Given the description of an element on the screen output the (x, y) to click on. 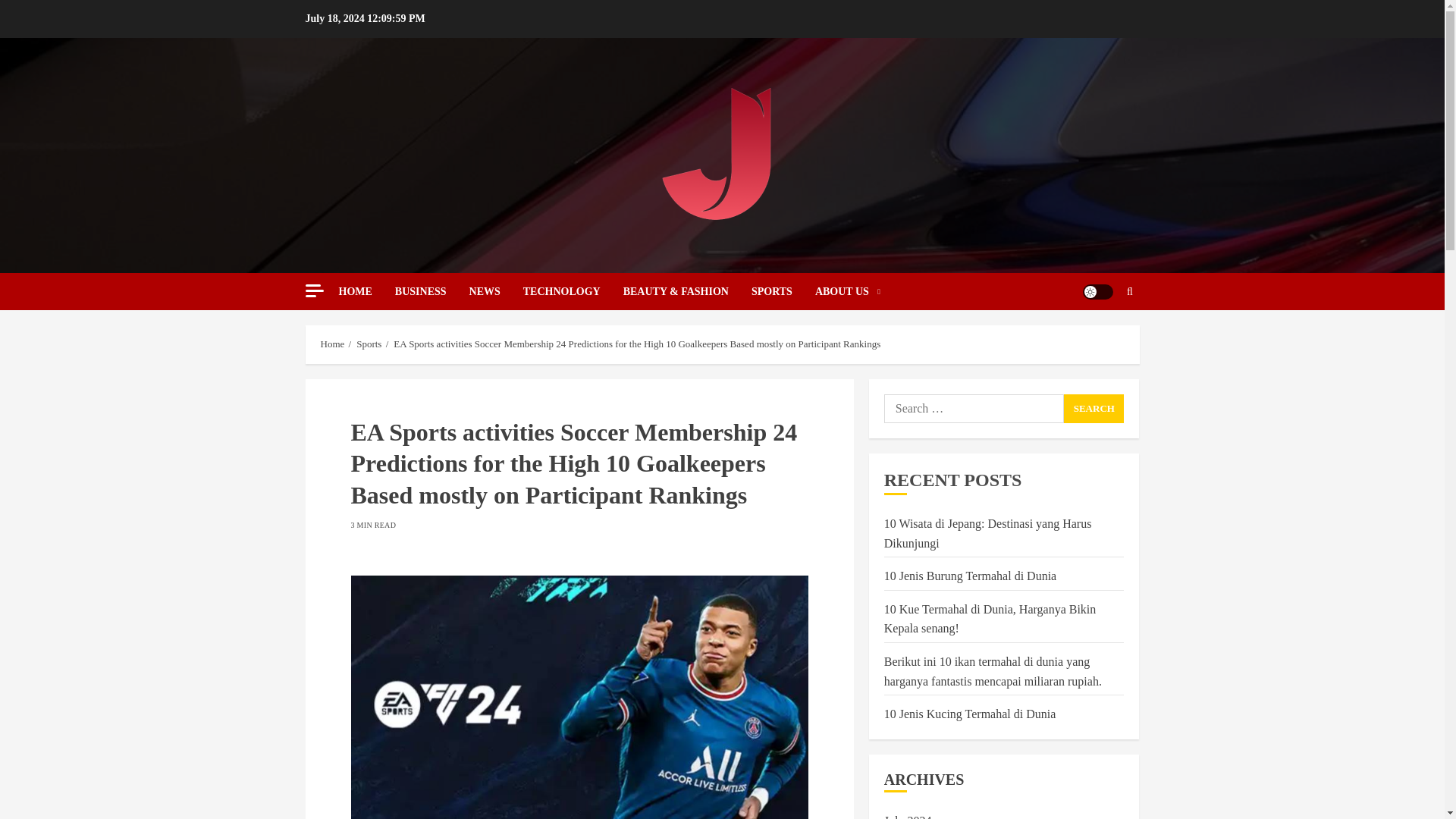
BUSINESS (431, 291)
ABOUT US (847, 291)
Search (1094, 408)
NEWS (495, 291)
HOME (365, 291)
TECHNOLOGY (572, 291)
Search (1094, 408)
Sports (368, 344)
SPORTS (783, 291)
Search (1099, 337)
Search (1130, 291)
Home (331, 344)
